Given the description of an element on the screen output the (x, y) to click on. 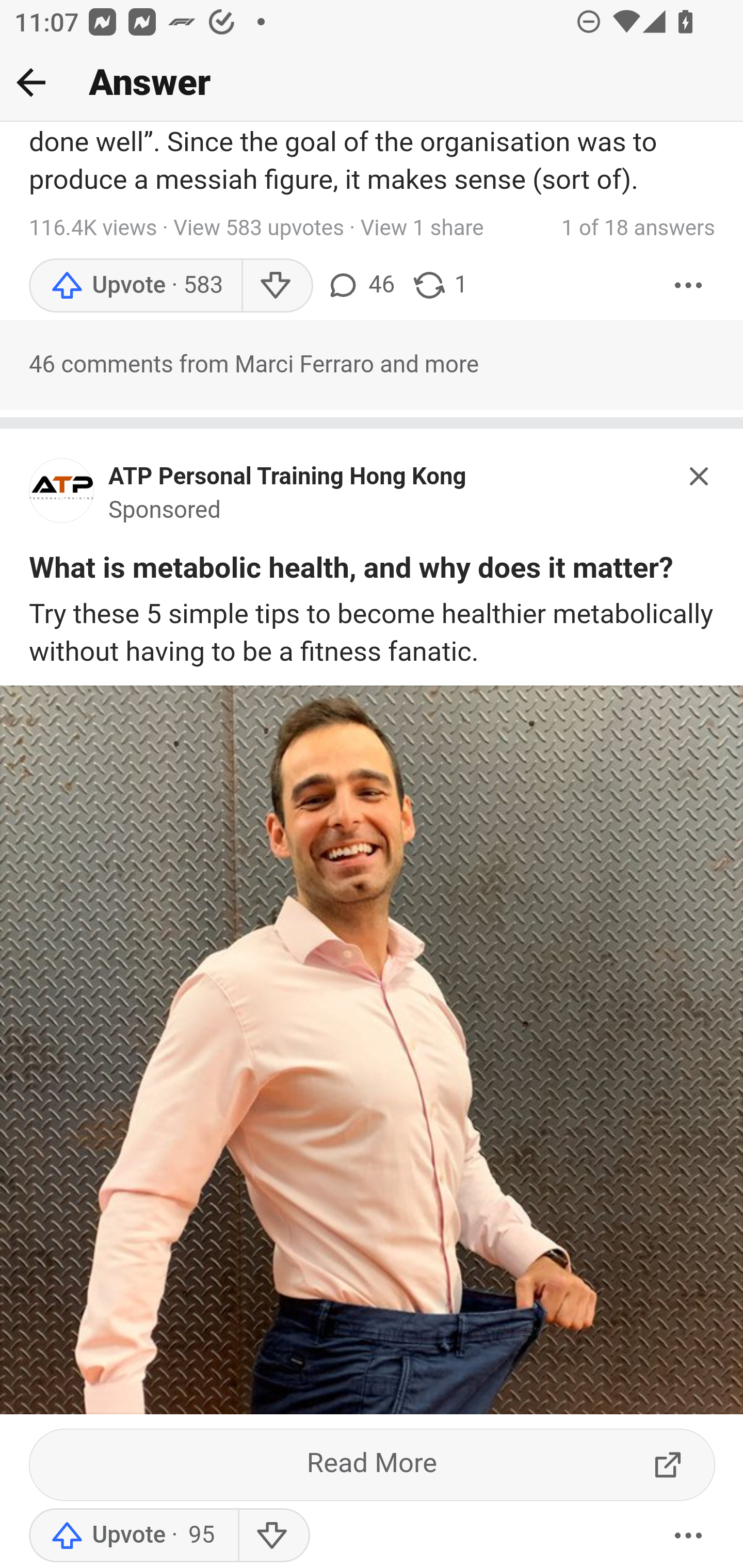
Back Answer (371, 82)
Back (30, 82)
View 583 upvotes (258, 229)
View 1 share (420, 229)
1 of 18 answers (637, 229)
Upvote (135, 286)
Downvote (277, 286)
46 comments (360, 286)
1 share (439, 286)
More (688, 286)
46 comments from Marci Ferraro and more (371, 365)
Hide (699, 475)
main-qimg-1f396d5a5e054ddd9a425d683de3a2f9 (61, 495)
ATP Personal Training Hong Kong (287, 477)
Sponsored (165, 511)
What is metabolic health, and why does it matter? (350, 571)
Read More ExternalLink (372, 1465)
Upvote (133, 1535)
Downvote (273, 1535)
More (688, 1535)
